Given the description of an element on the screen output the (x, y) to click on. 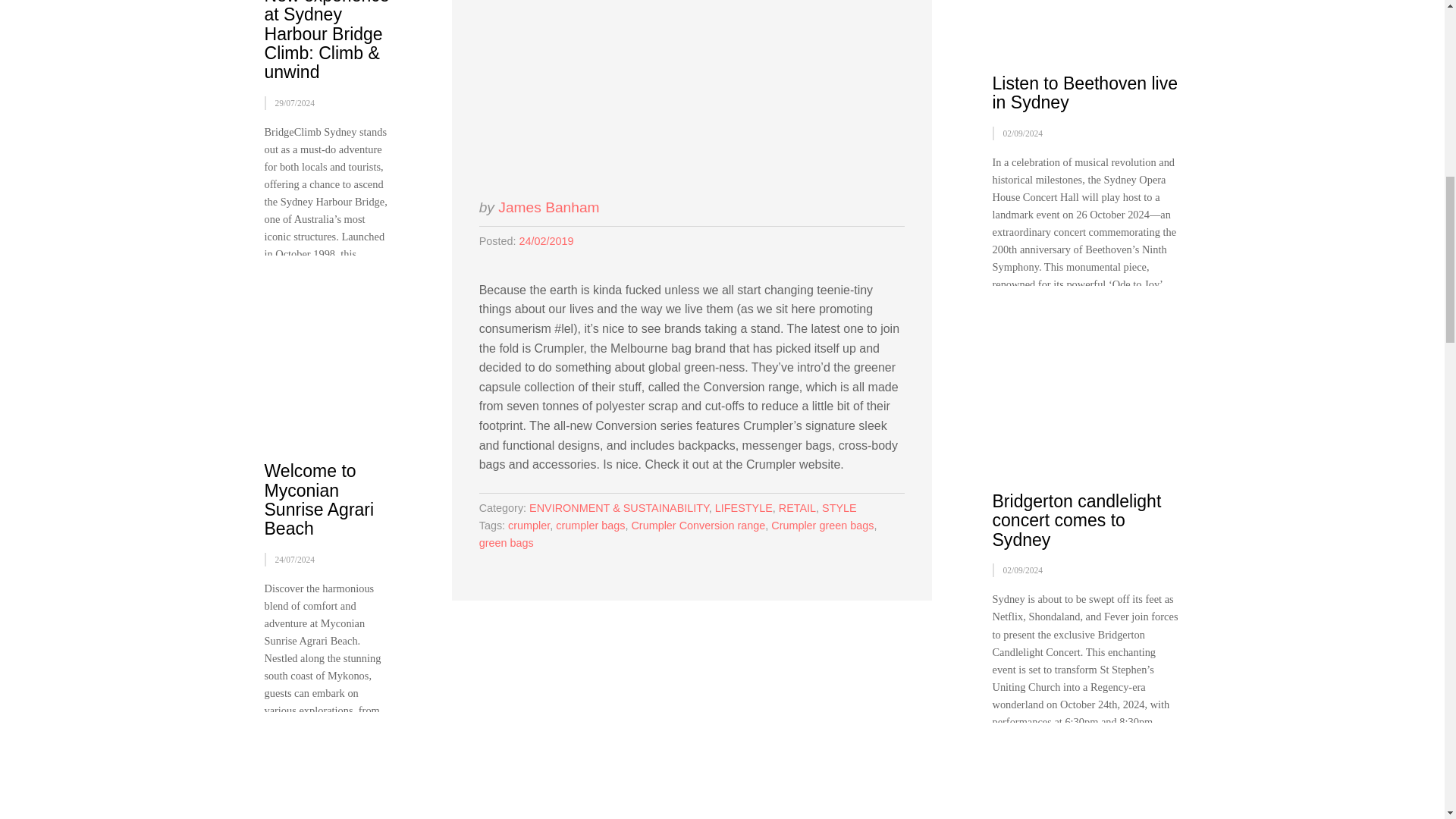
LIFESTYLE (743, 508)
green bags (506, 542)
Welcome to Myconian Sunrise Agrari Beach (318, 499)
Permalink to Crumpler has gone green with their bags (692, 90)
Listen to Beethoven live in Sydney (1084, 92)
4:35 PM (545, 241)
James Banham (547, 207)
crumpler (529, 525)
Crumpler green bags (822, 525)
STYLE (839, 508)
